Given the description of an element on the screen output the (x, y) to click on. 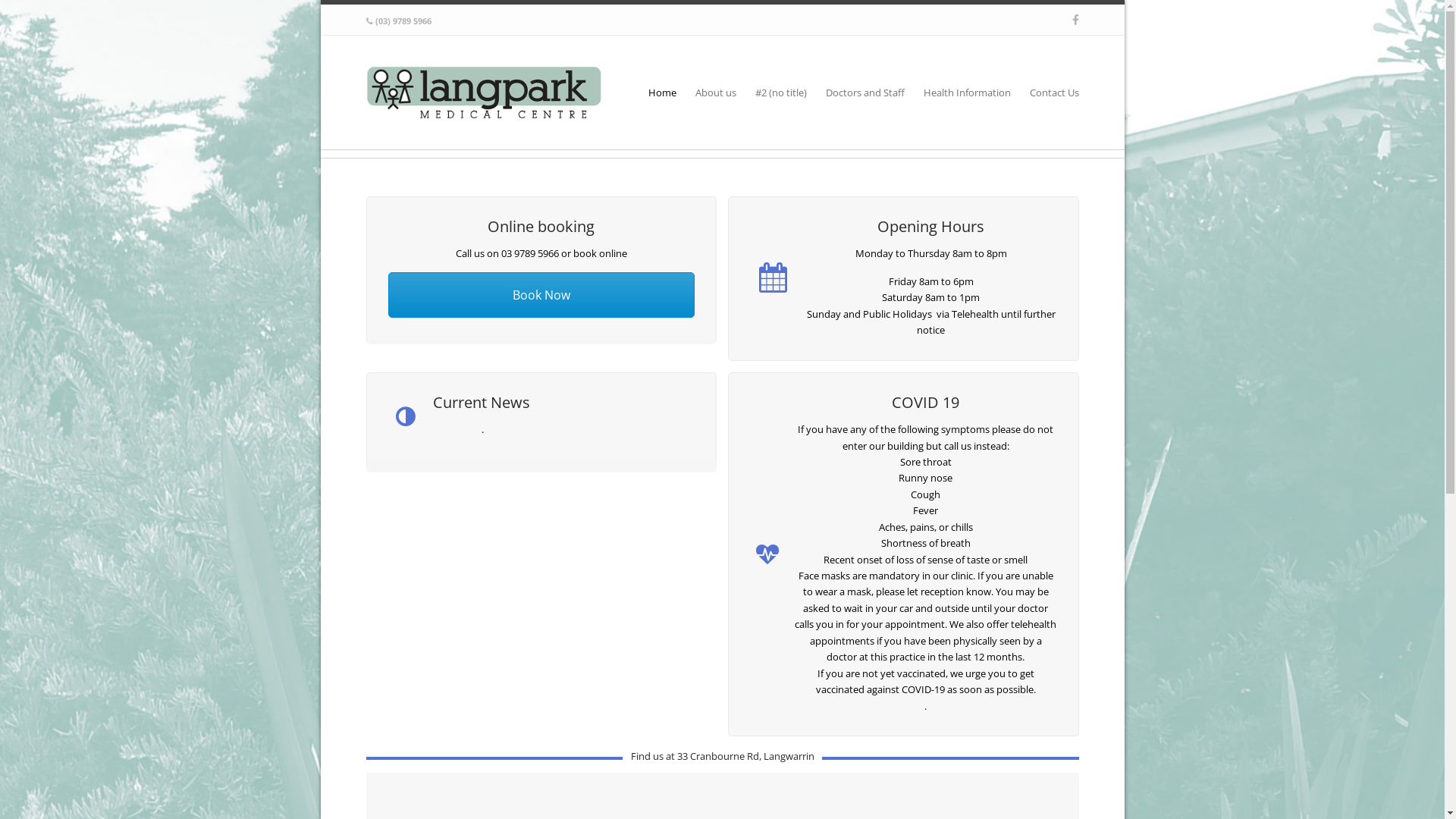
Contact Us Element type: text (1054, 92)
Book Now Element type: text (541, 294)
Doctors and Staff Element type: text (872, 92)
Langpark Medical Centre Element type: hover (483, 92)
Health Information Element type: text (974, 92)
Facebook Element type: hover (1075, 19)
About us Element type: text (722, 92)
#2 (no title) Element type: text (788, 92)
Home Element type: text (668, 92)
